Given the description of an element on the screen output the (x, y) to click on. 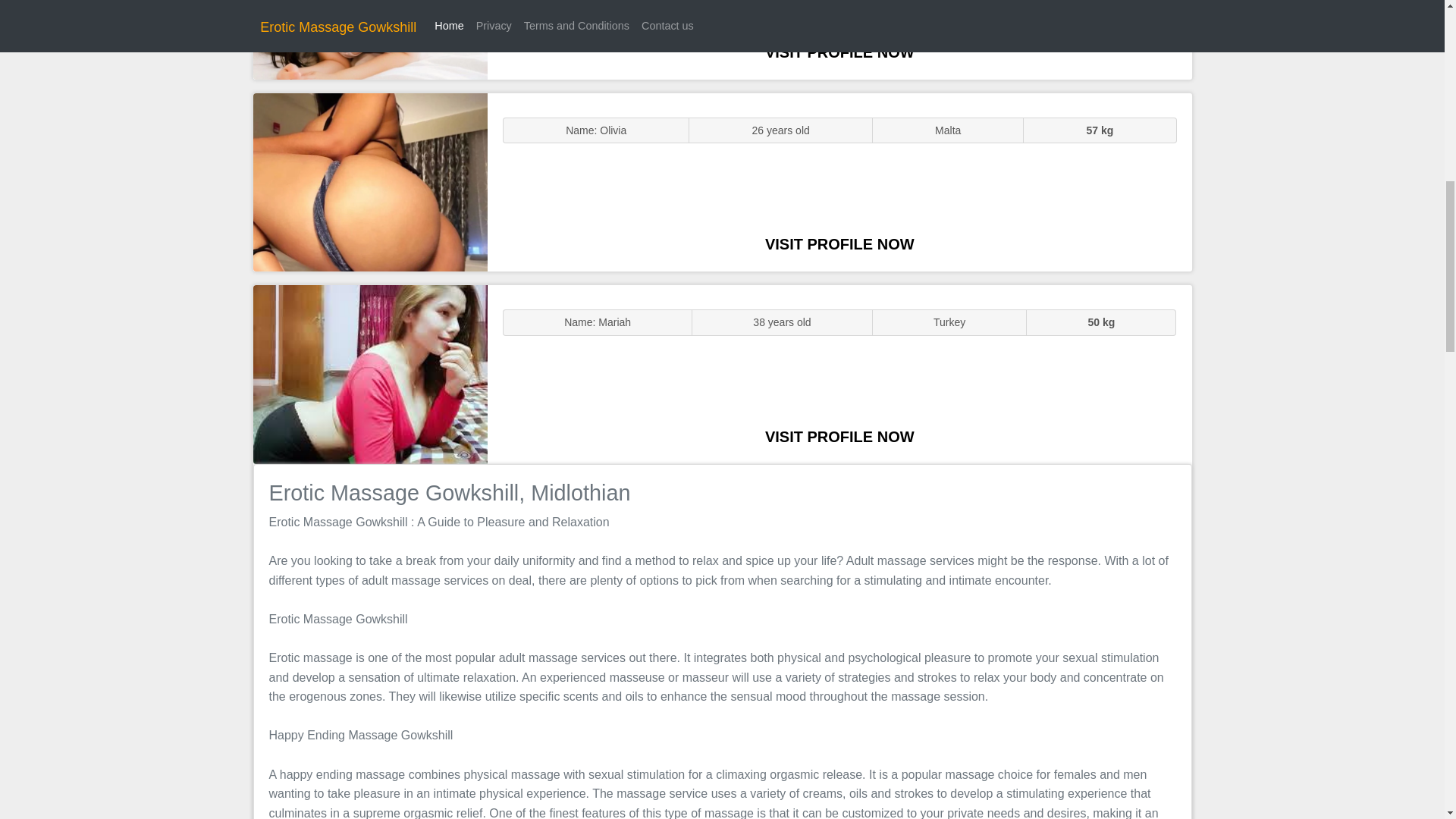
Sluts (370, 182)
Massage (370, 374)
VISIT PROFILE NOW (839, 52)
Sluts (370, 39)
VISIT PROFILE NOW (839, 243)
VISIT PROFILE NOW (839, 436)
